Given the description of an element on the screen output the (x, y) to click on. 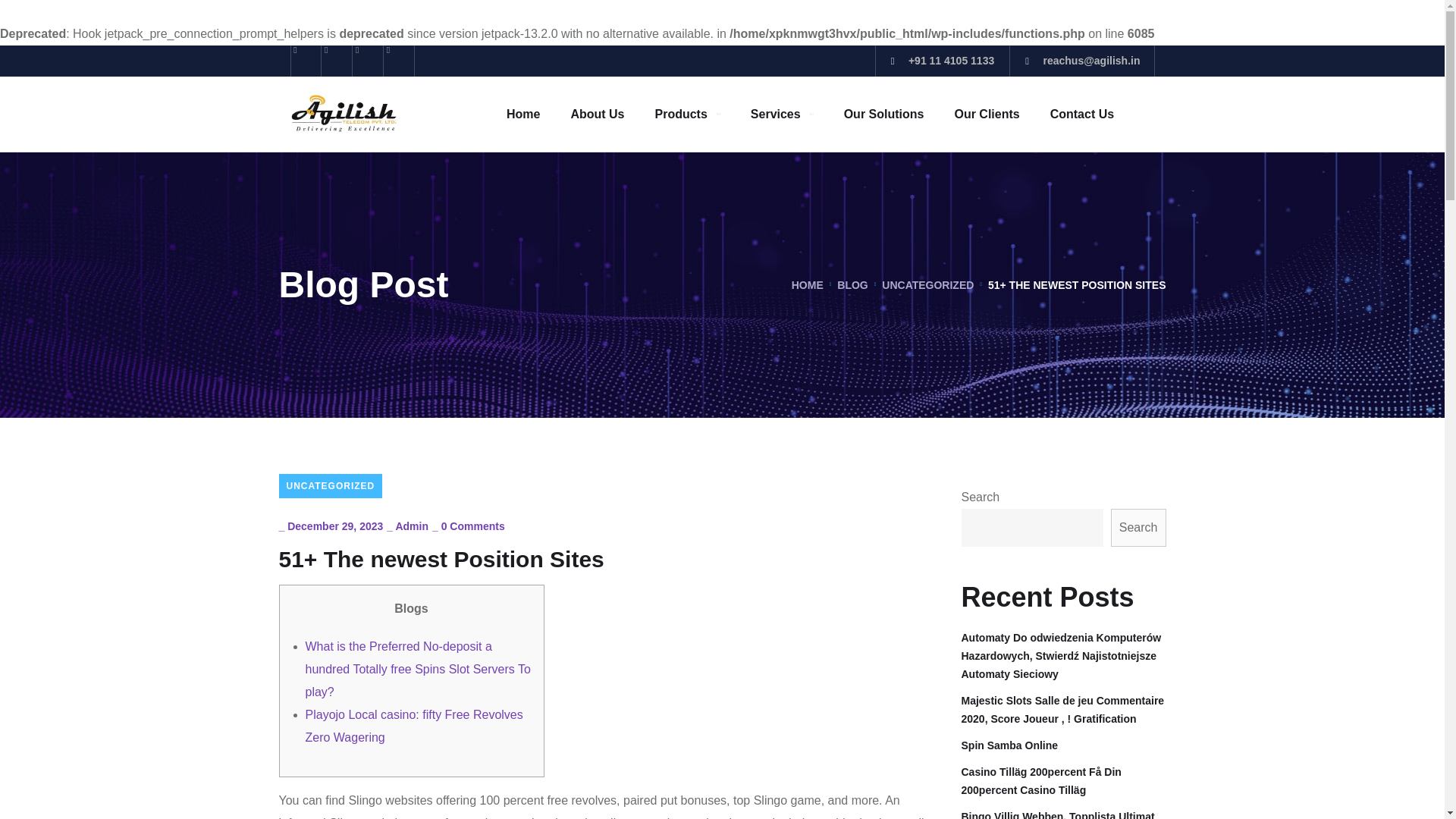
Our Solutions (884, 113)
